Given the description of an element on the screen output the (x, y) to click on. 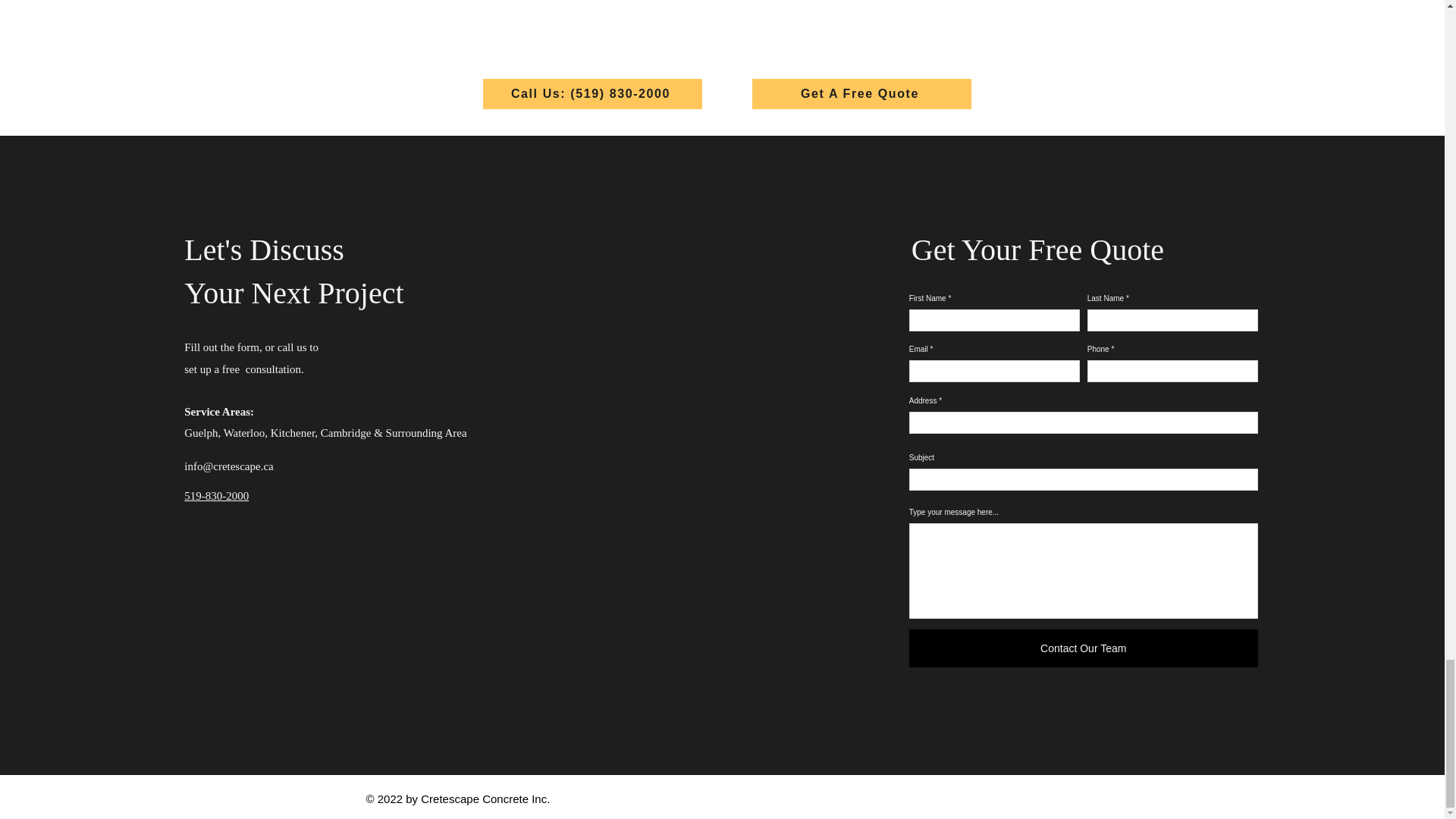
Get A Free Quote (861, 93)
Contact Our Team (1082, 648)
519-830-2000 (216, 495)
